Given the description of an element on the screen output the (x, y) to click on. 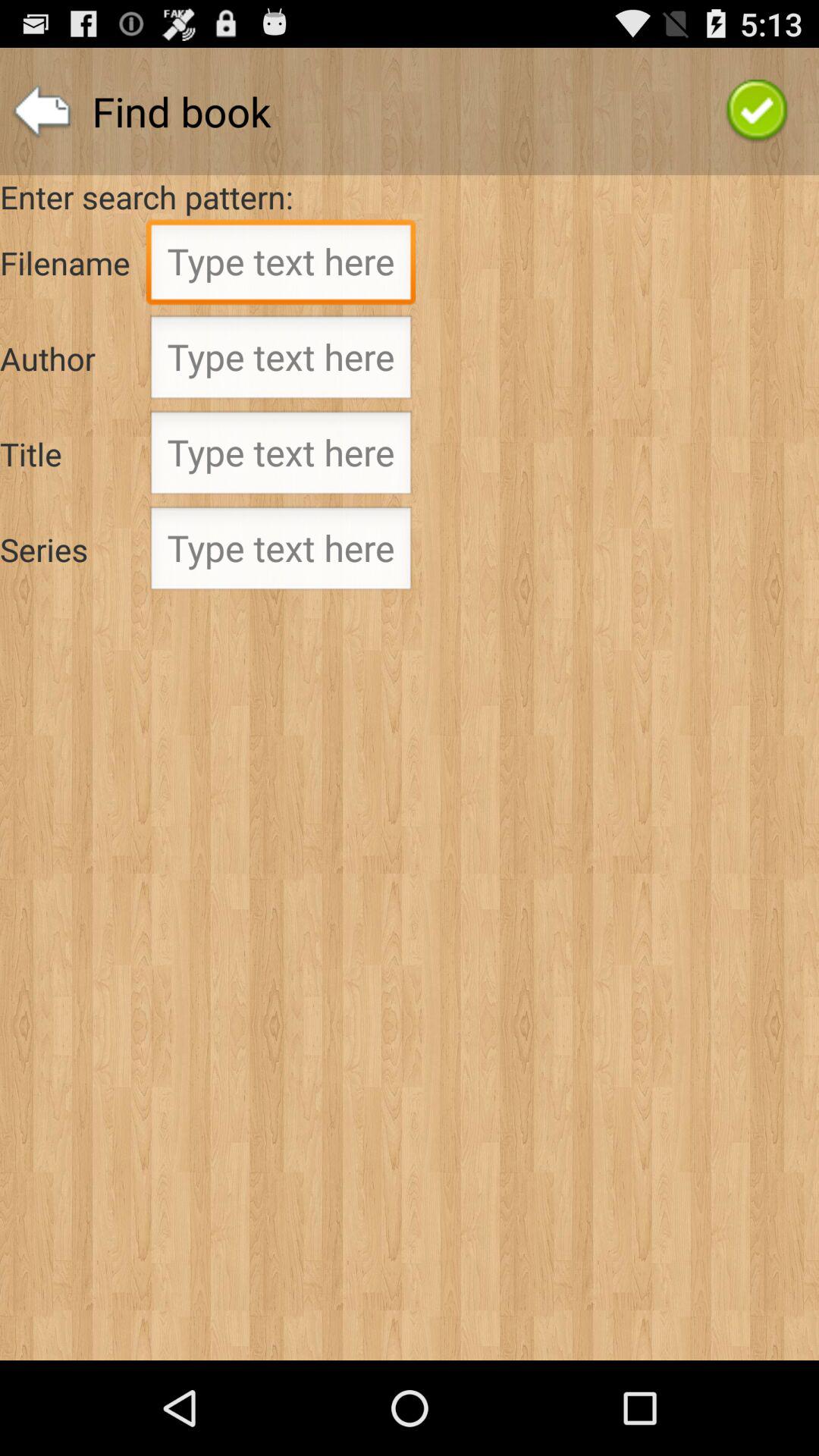
enter author of book (280, 361)
